Given the description of an element on the screen output the (x, y) to click on. 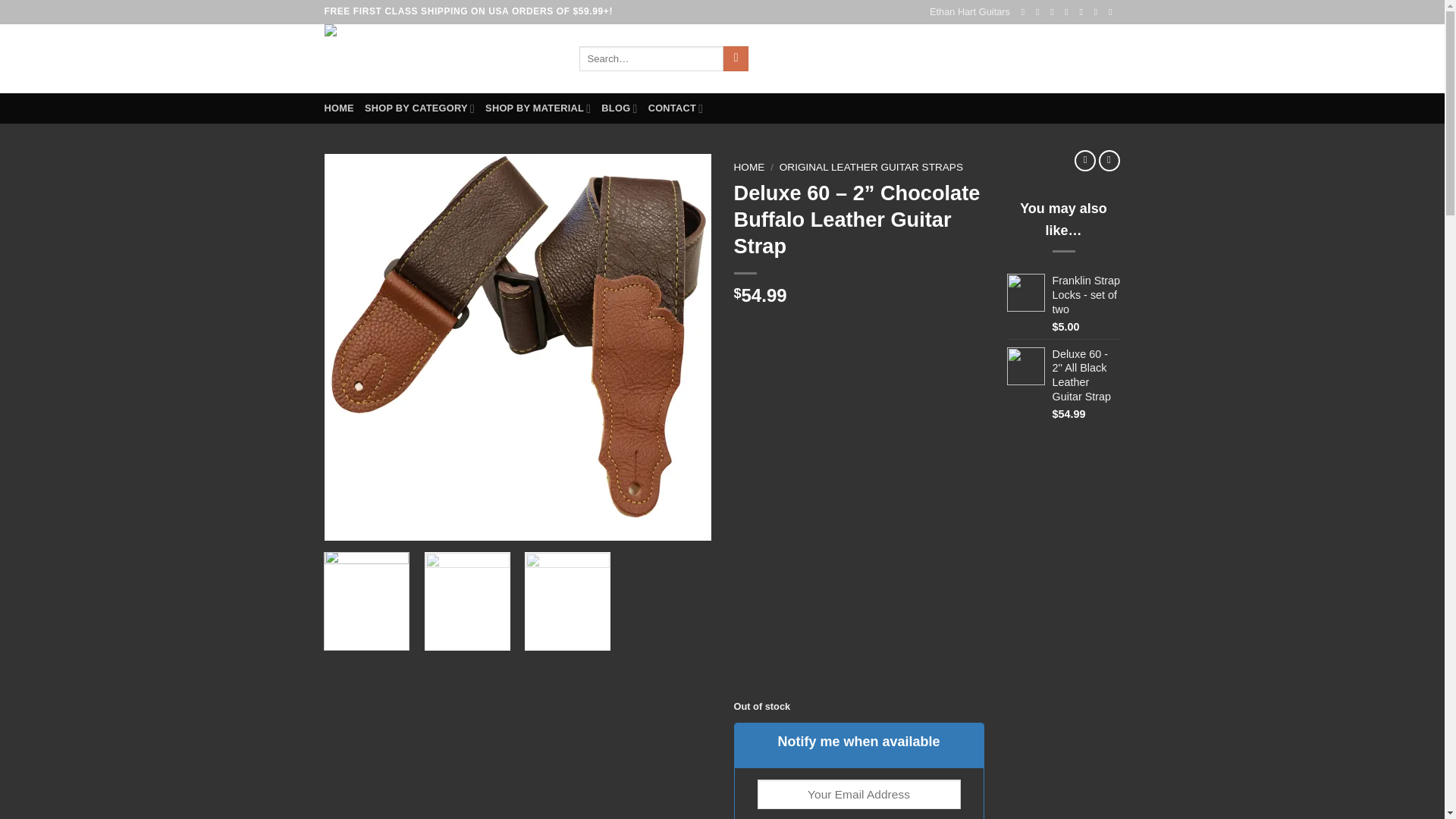
Franklin Strap - The Soft Strap (440, 58)
BLOG (619, 108)
Zoom (347, 518)
Cart (1074, 58)
SHOP BY MATERIAL (537, 108)
Login (991, 58)
Ethan Hart Guitars (970, 12)
Search (735, 58)
LOGIN (991, 58)
HOME (338, 108)
